Given the description of an element on the screen output the (x, y) to click on. 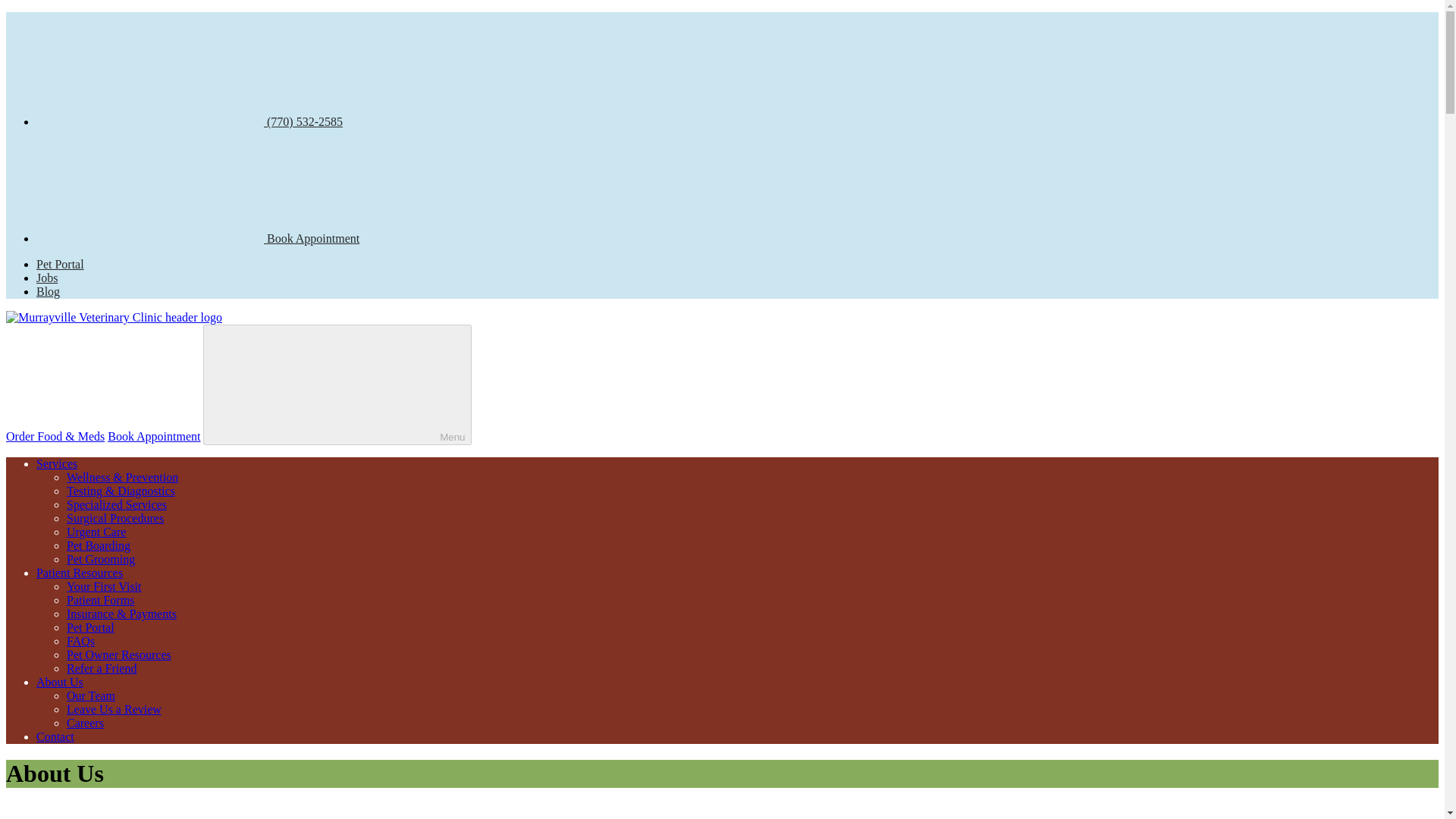
Pet Owner Resources (118, 654)
FAQs (80, 640)
Pet Grooming (100, 558)
Specialized Services (116, 504)
Book Appointment (153, 436)
Pet Portal (90, 626)
Careers (84, 722)
Our Team (90, 695)
Jobs (47, 277)
Menu (336, 384)
Contact (55, 736)
Refer a Friend (101, 667)
Surgical Procedures (114, 517)
Pet Portal (60, 264)
Book Appointment (197, 237)
